Given the description of an element on the screen output the (x, y) to click on. 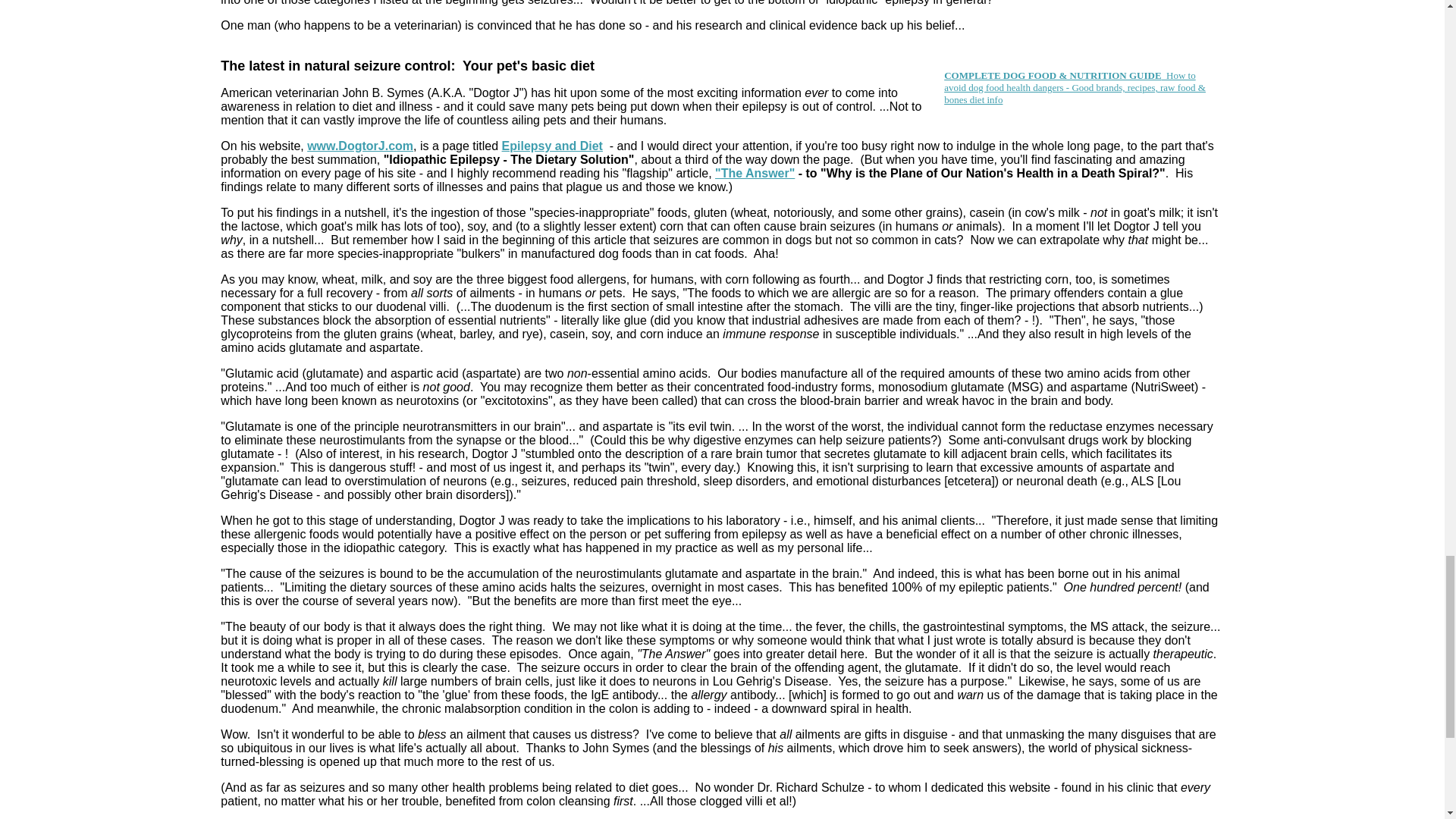
www.DogtorJ.com (360, 145)
"The Answer" (754, 173)
Epilepsy and Diet (552, 145)
